Given the description of an element on the screen output the (x, y) to click on. 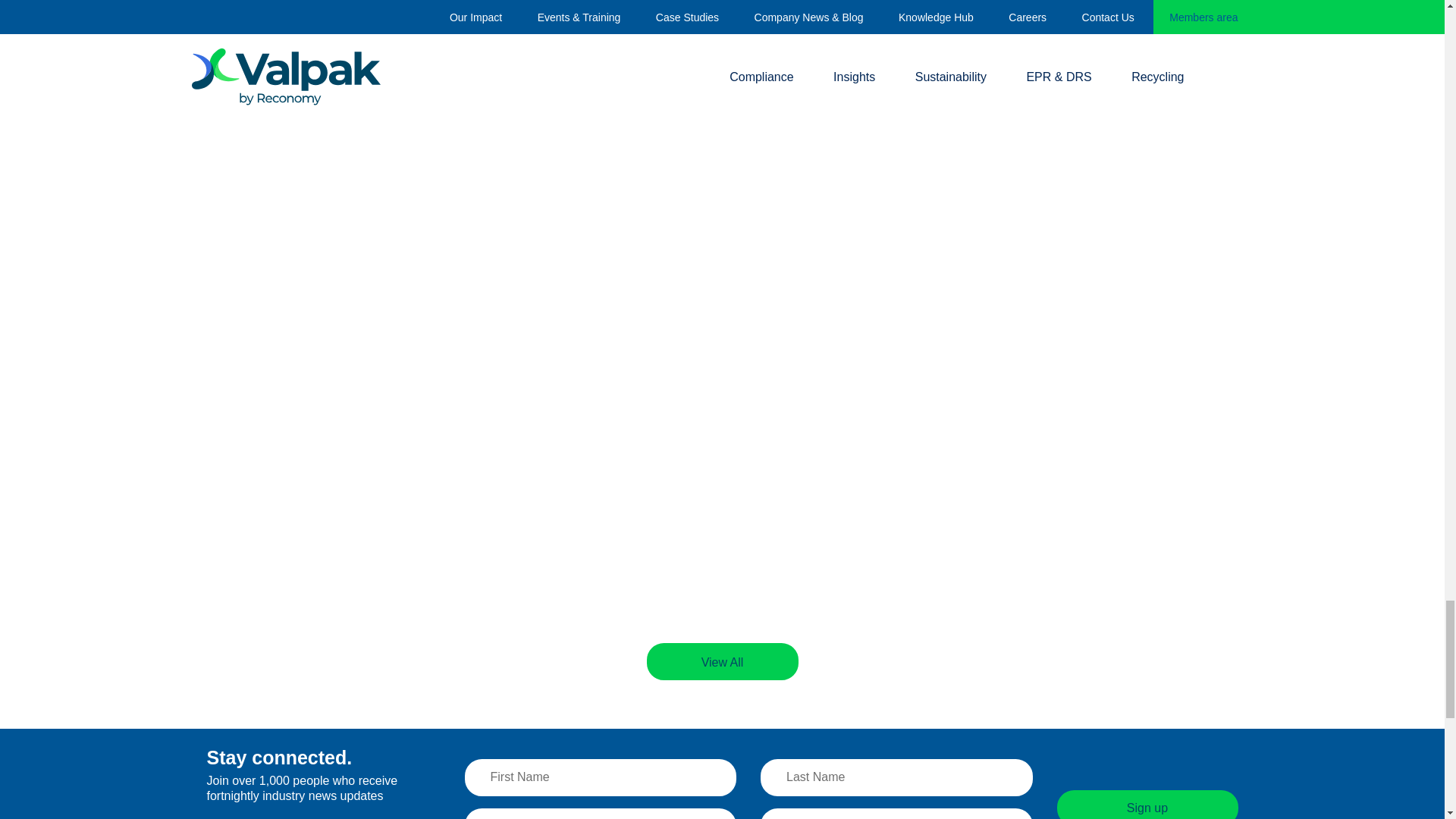
Sign up (1148, 804)
